Given the description of an element on the screen output the (x, y) to click on. 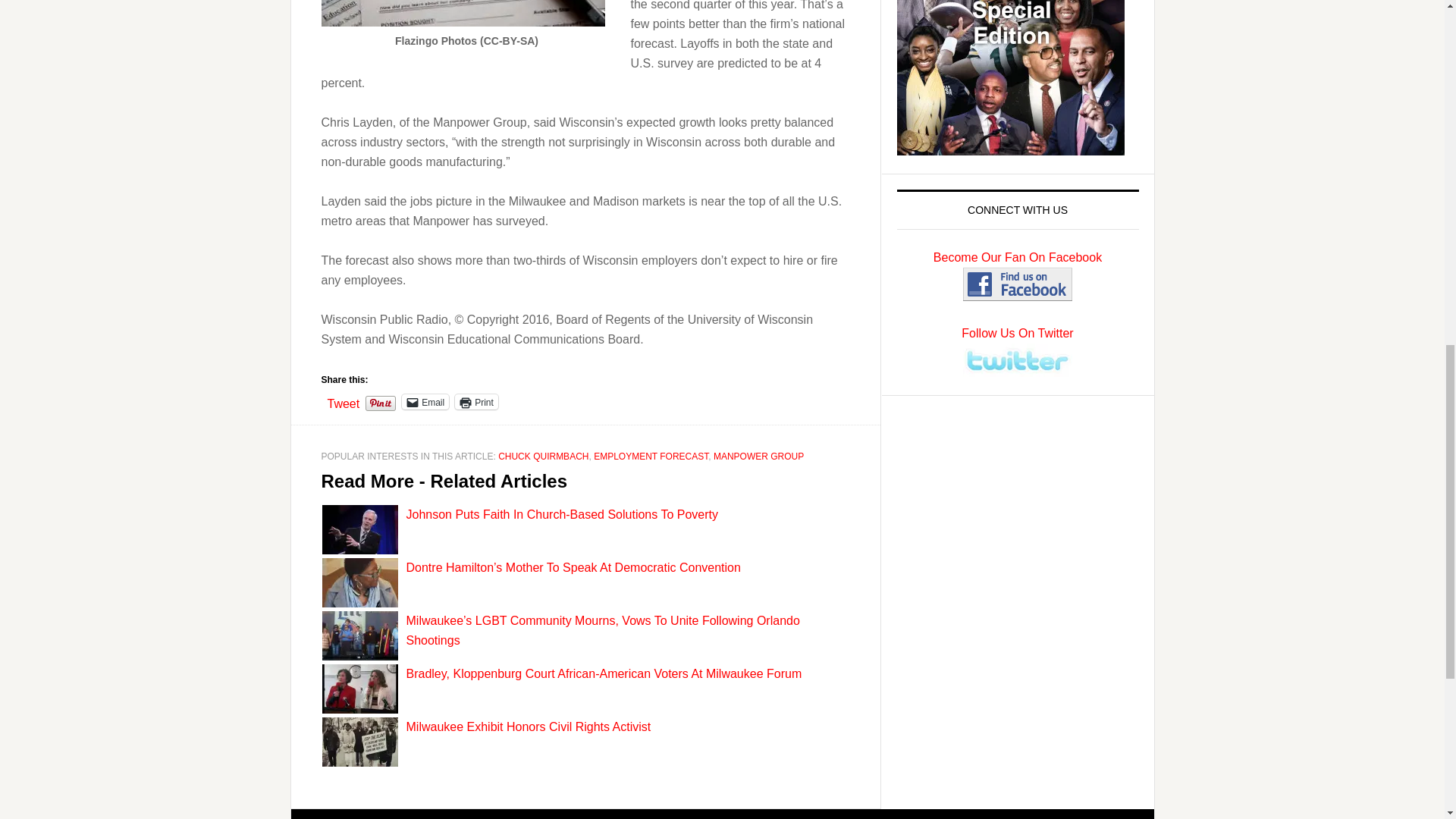
Email (424, 401)
Milwaukee Exhibit Honors Civil Rights Activist (528, 726)
Print (475, 401)
CHUCK QUIRMBACH (542, 456)
EMPLOYMENT FORECAST (650, 456)
Click to print (475, 401)
MANPOWER GROUP (758, 456)
Johnson Puts Faith In Church-Based Solutions To Poverty (561, 513)
Click to email a link to a friend (424, 401)
Johnson Puts Faith In Church-Based Solutions To Poverty (561, 513)
Tweet (343, 400)
